Given the description of an element on the screen output the (x, y) to click on. 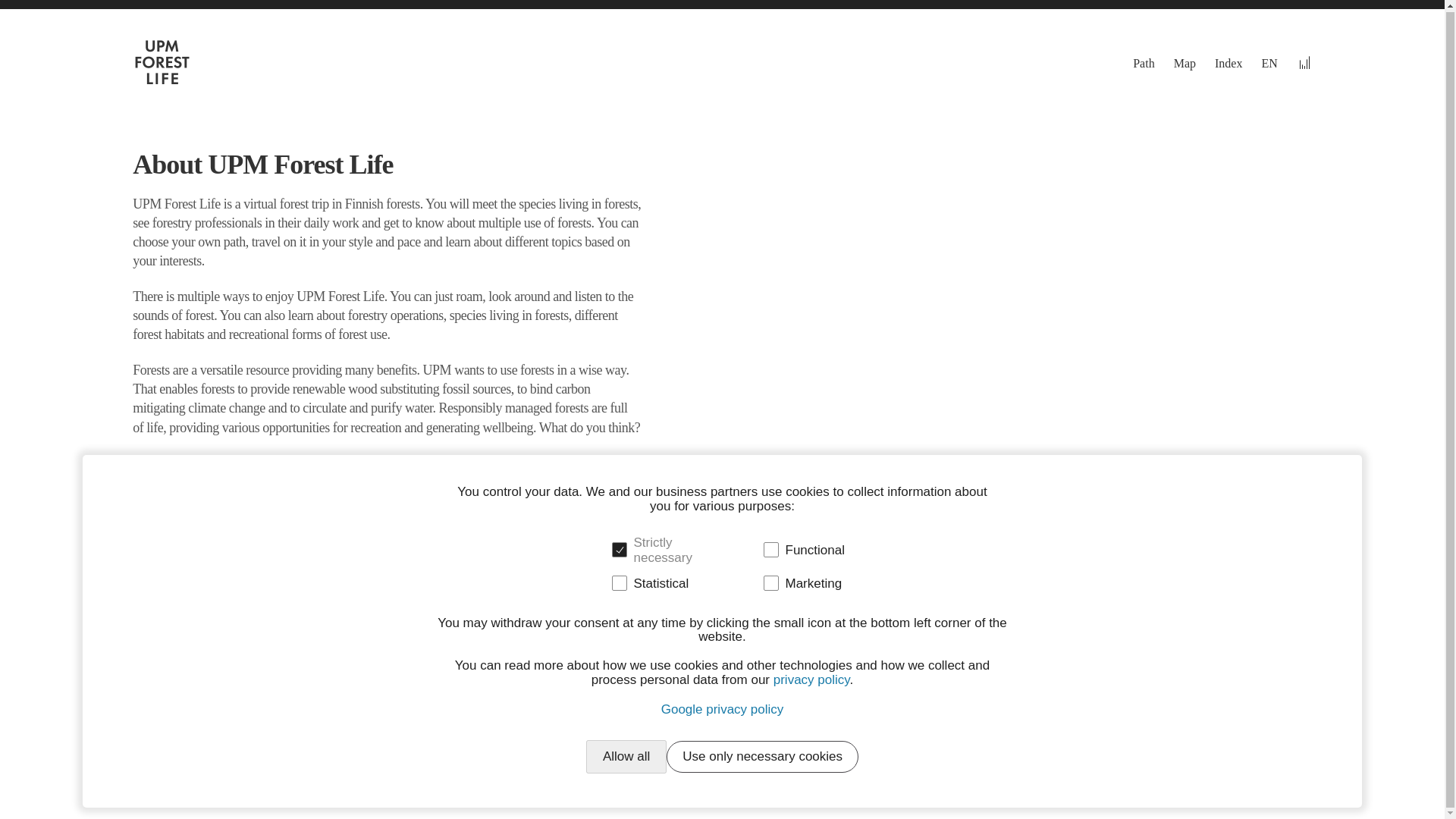
Legal Notice (1232, 795)
privacy policy (811, 678)
on (618, 582)
Allow all (626, 756)
Privacy Policy (1168, 795)
Google privacy policy (722, 708)
Index (1227, 63)
Use only necessary cookies (762, 756)
on (769, 549)
Map (1184, 63)
upm.com (1287, 795)
on (618, 549)
on (769, 582)
